Given the description of an element on the screen output the (x, y) to click on. 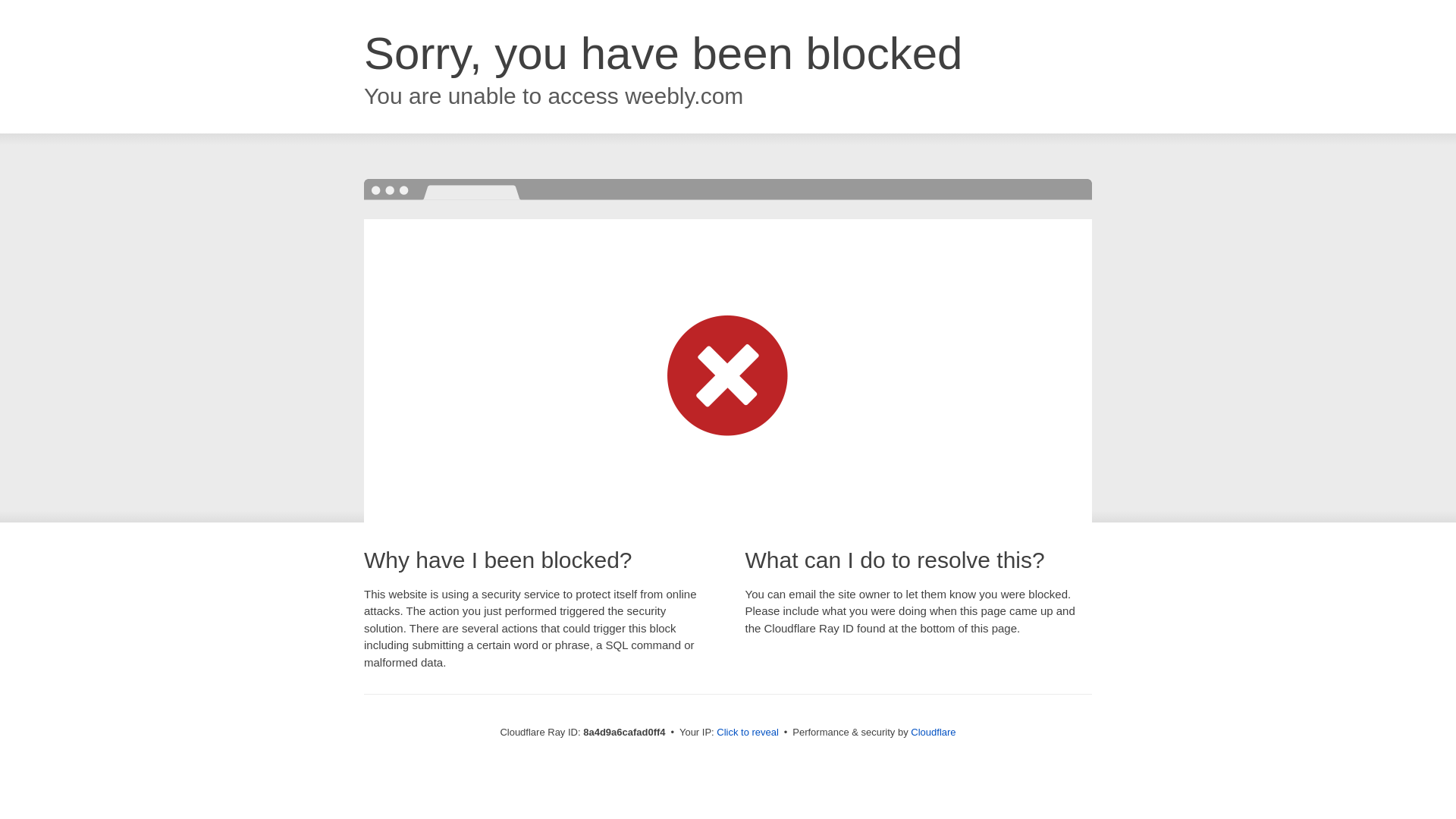
Cloudflare (933, 731)
Click to reveal (747, 732)
